Given the description of an element on the screen output the (x, y) to click on. 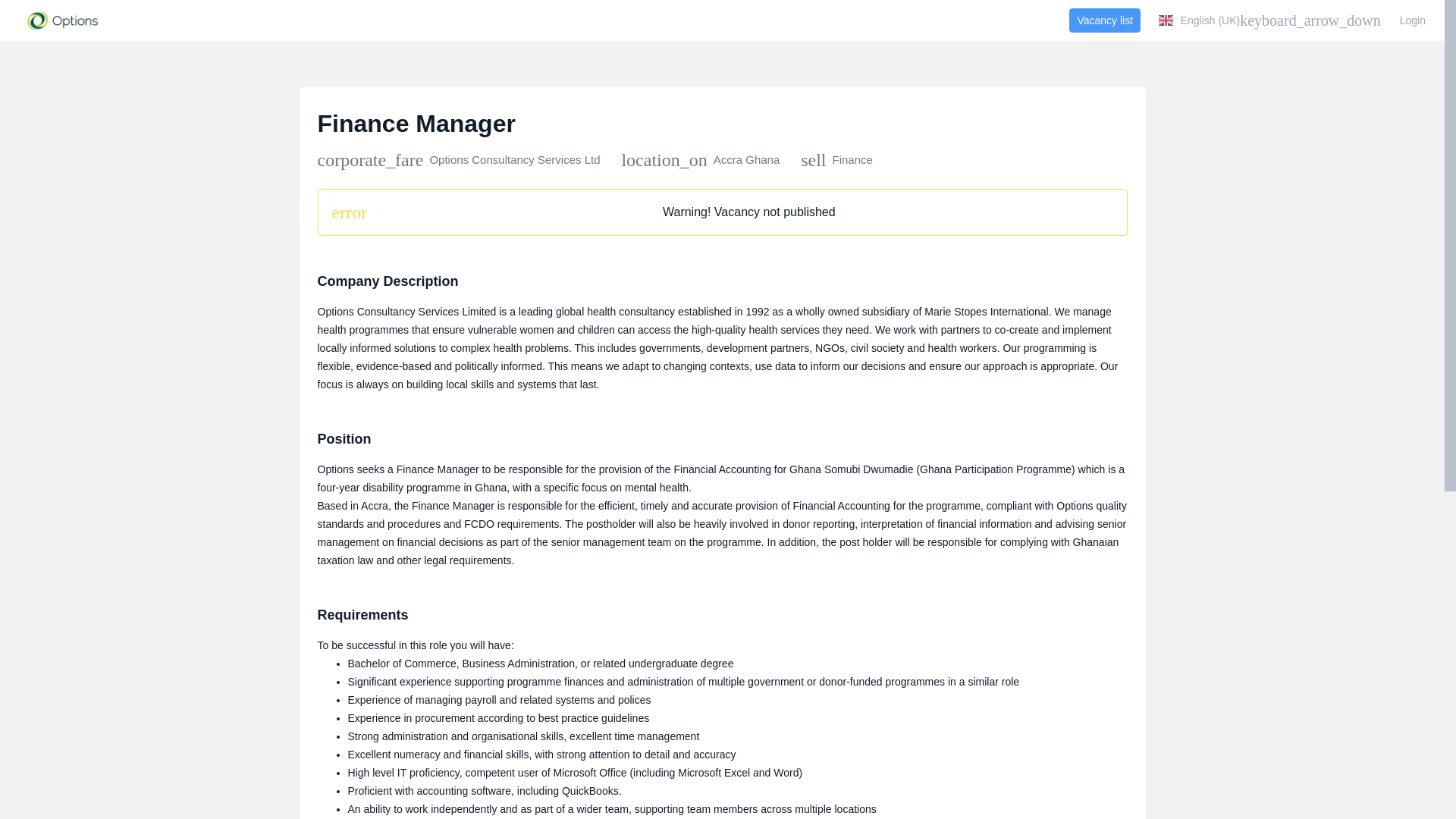
Location (699, 159)
Functional Area (836, 159)
Login (1412, 20)
Company (458, 159)
Vacancy list (1104, 20)
